Given the description of an element on the screen output the (x, y) to click on. 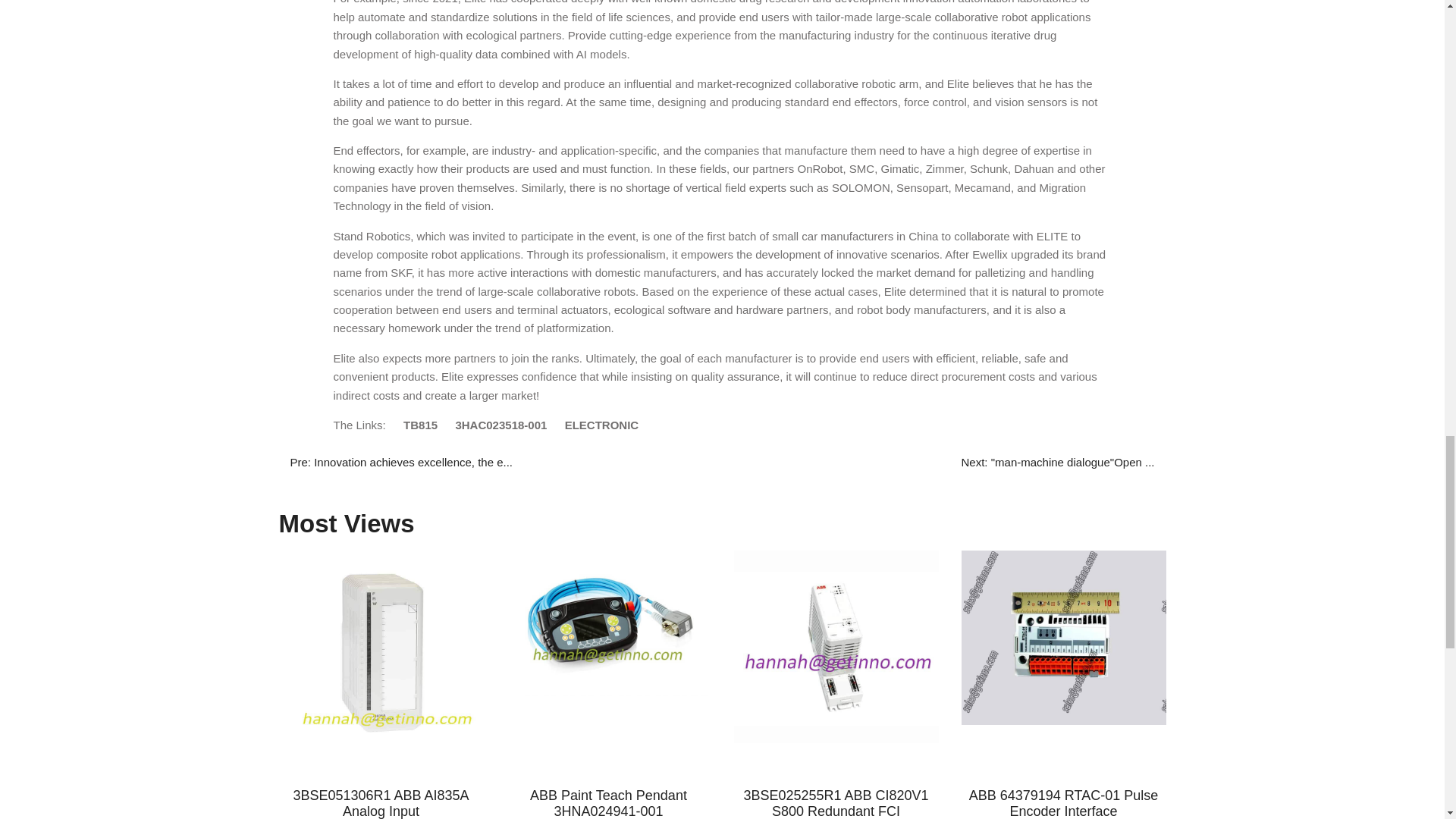
AI (581, 53)
manufacturing industry (835, 34)
